Given the description of an element on the screen output the (x, y) to click on. 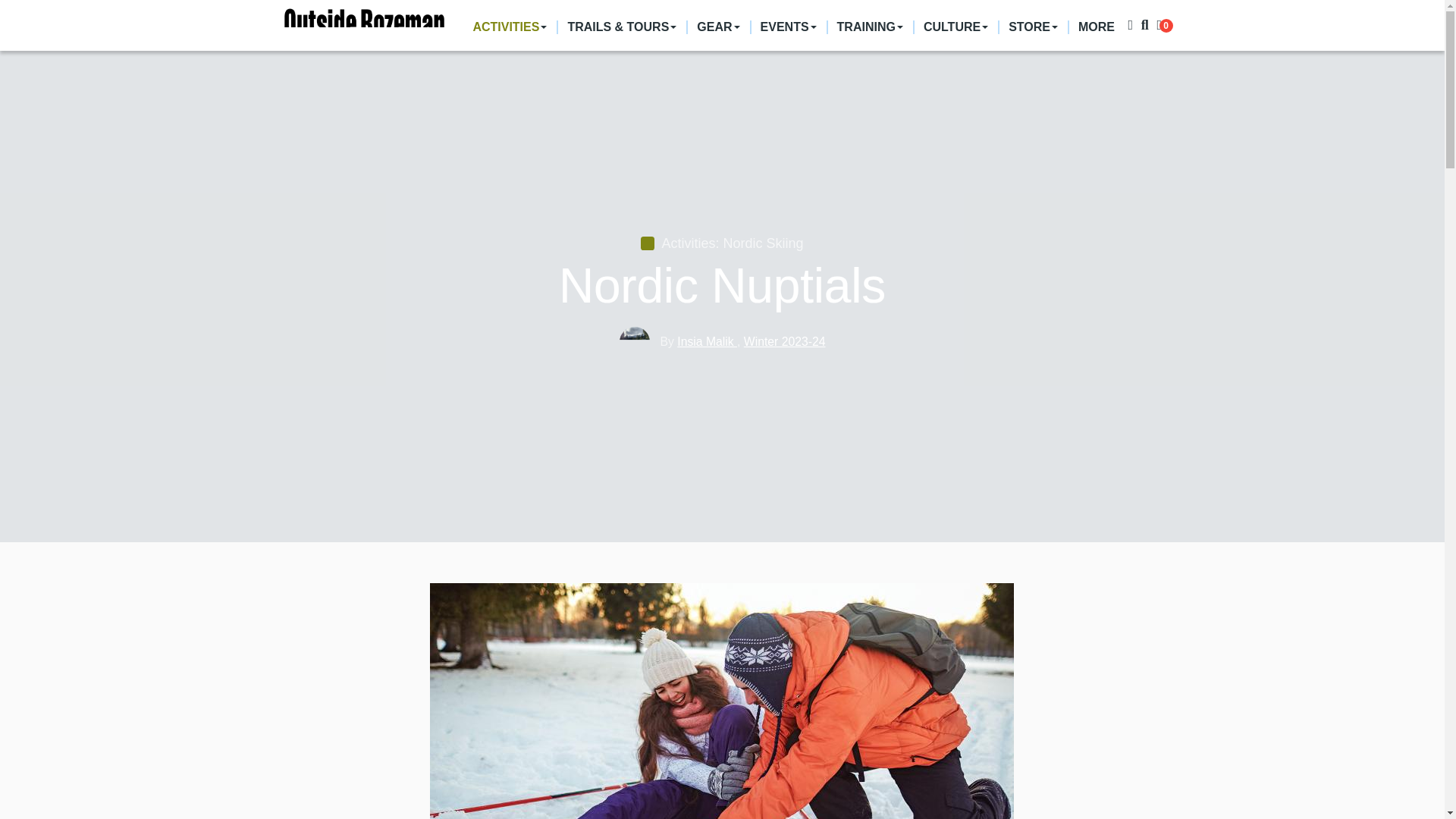
EVENTS (787, 26)
CULTURE (954, 26)
ACTIVITIES (509, 26)
TRAINING (869, 26)
GEAR (716, 26)
